Given the description of an element on the screen output the (x, y) to click on. 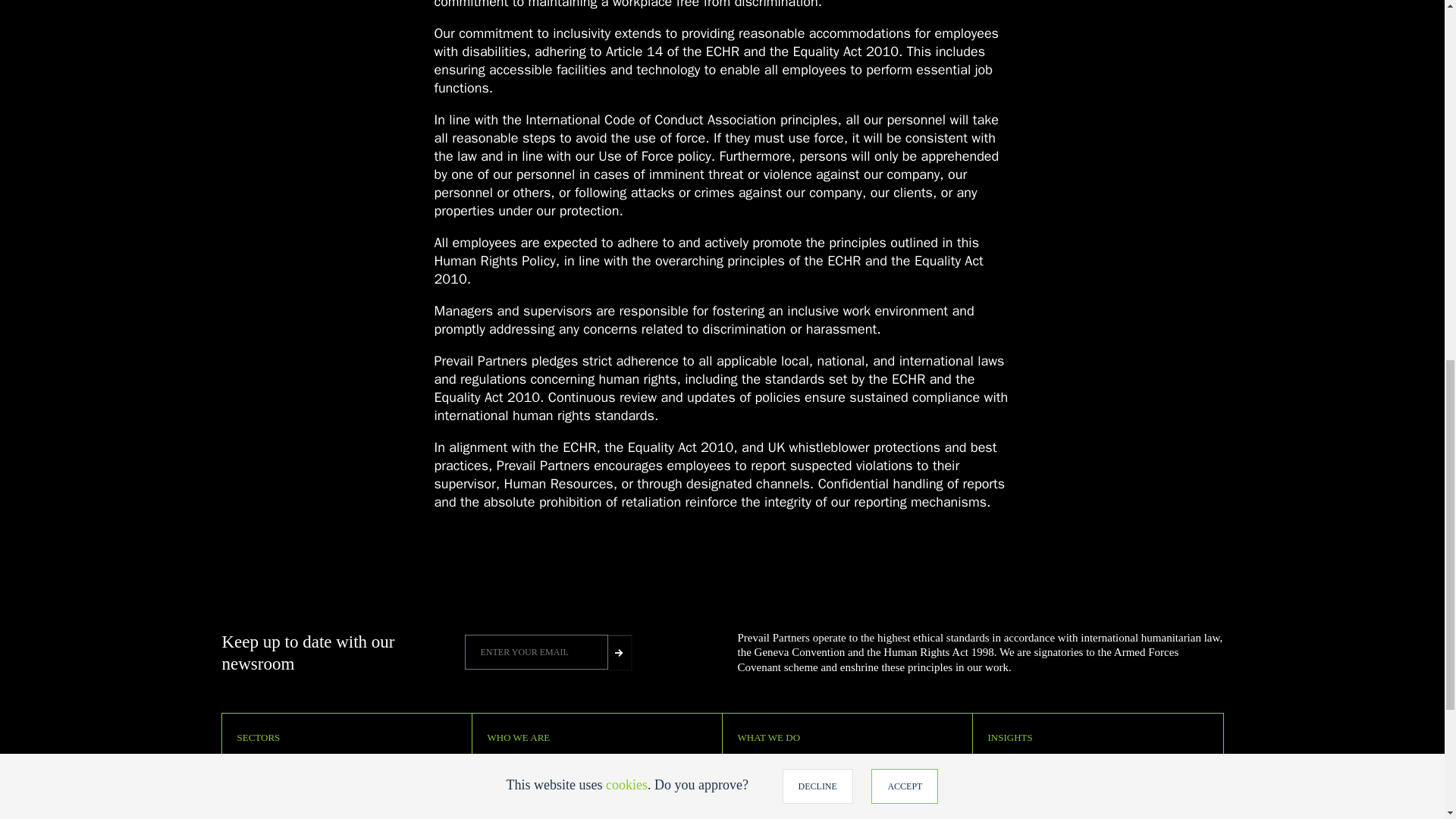
WHO WE ARE (518, 737)
SUPPORTING COMMUNITIES, CHARITIES AND NGO PARTNERS (324, 810)
CASE STUDIES (765, 777)
SERVICES (756, 759)
WHAT WE DO (767, 737)
INSIGHTS (1009, 737)
ORGANISATIONS OPERATING IN HOSTILE ENVIRONMENTS (316, 783)
SECTORS (257, 737)
NEWSROOM (1011, 759)
NATIONAL SECURITY INTELLIGENCE AND OPERATIONS (345, 759)
